Given the description of an element on the screen output the (x, y) to click on. 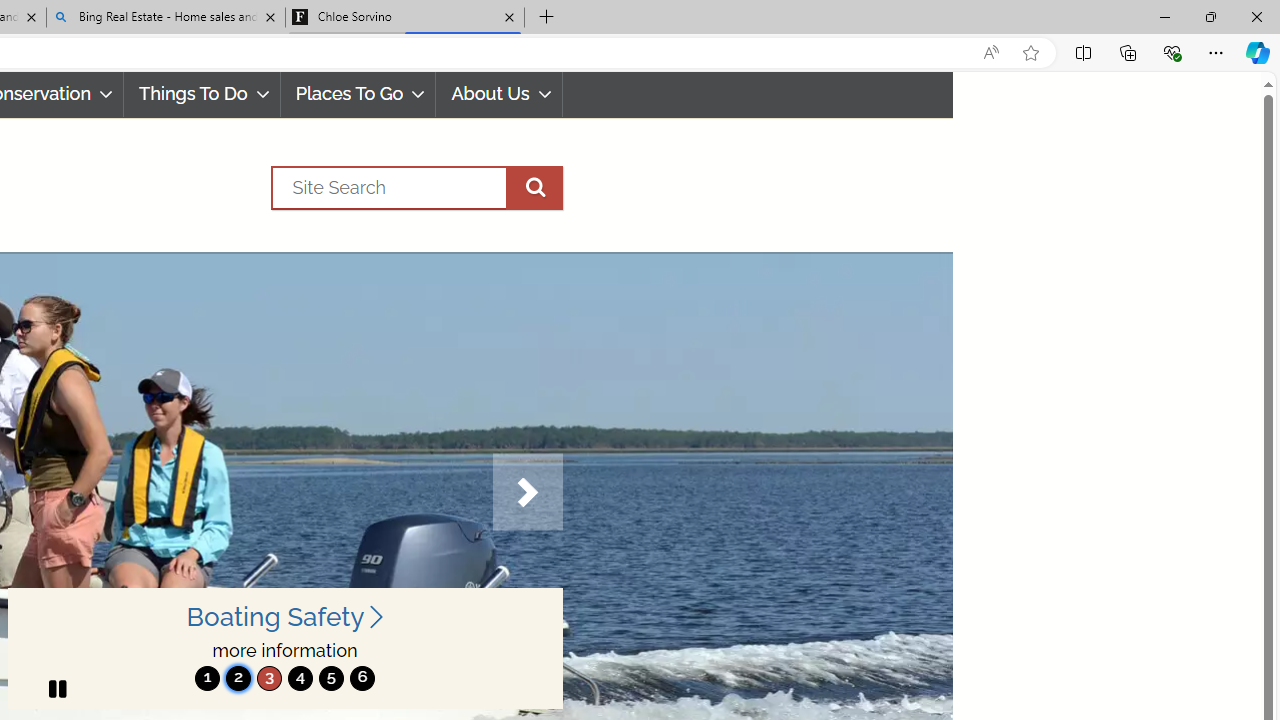
5 (331, 678)
4 (300, 678)
Restore (1210, 16)
About Us (499, 94)
move to slide 2 (238, 678)
Close (1256, 16)
Things To Do (202, 94)
